Given the description of an element on the screen output the (x, y) to click on. 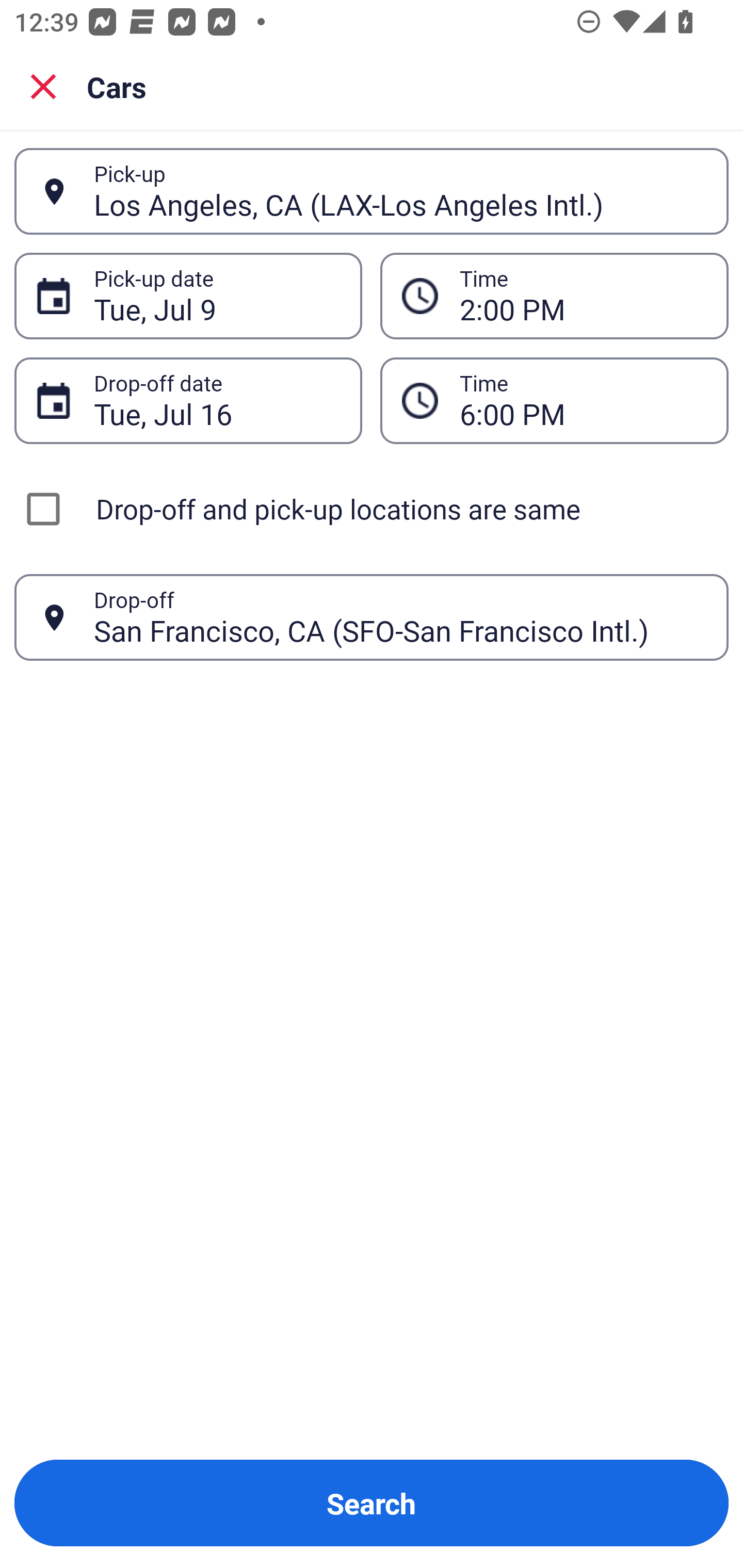
Close search screen (43, 86)
Los Angeles, CA (LAX-Los Angeles Intl.) Pick-up (371, 191)
Los Angeles, CA (LAX-Los Angeles Intl.) (399, 191)
Tue, Jul 9 Pick-up date (188, 295)
2:00 PM (554, 295)
Tue, Jul 9 (216, 296)
2:00 PM (582, 296)
Tue, Jul 16 Drop-off date (188, 400)
6:00 PM (554, 400)
Tue, Jul 16 (216, 400)
6:00 PM (582, 400)
Drop-off and pick-up locations are same (371, 508)
San Francisco, CA (SFO-San Francisco Intl.) (399, 616)
Search Button Search (371, 1502)
